Given the description of an element on the screen output the (x, y) to click on. 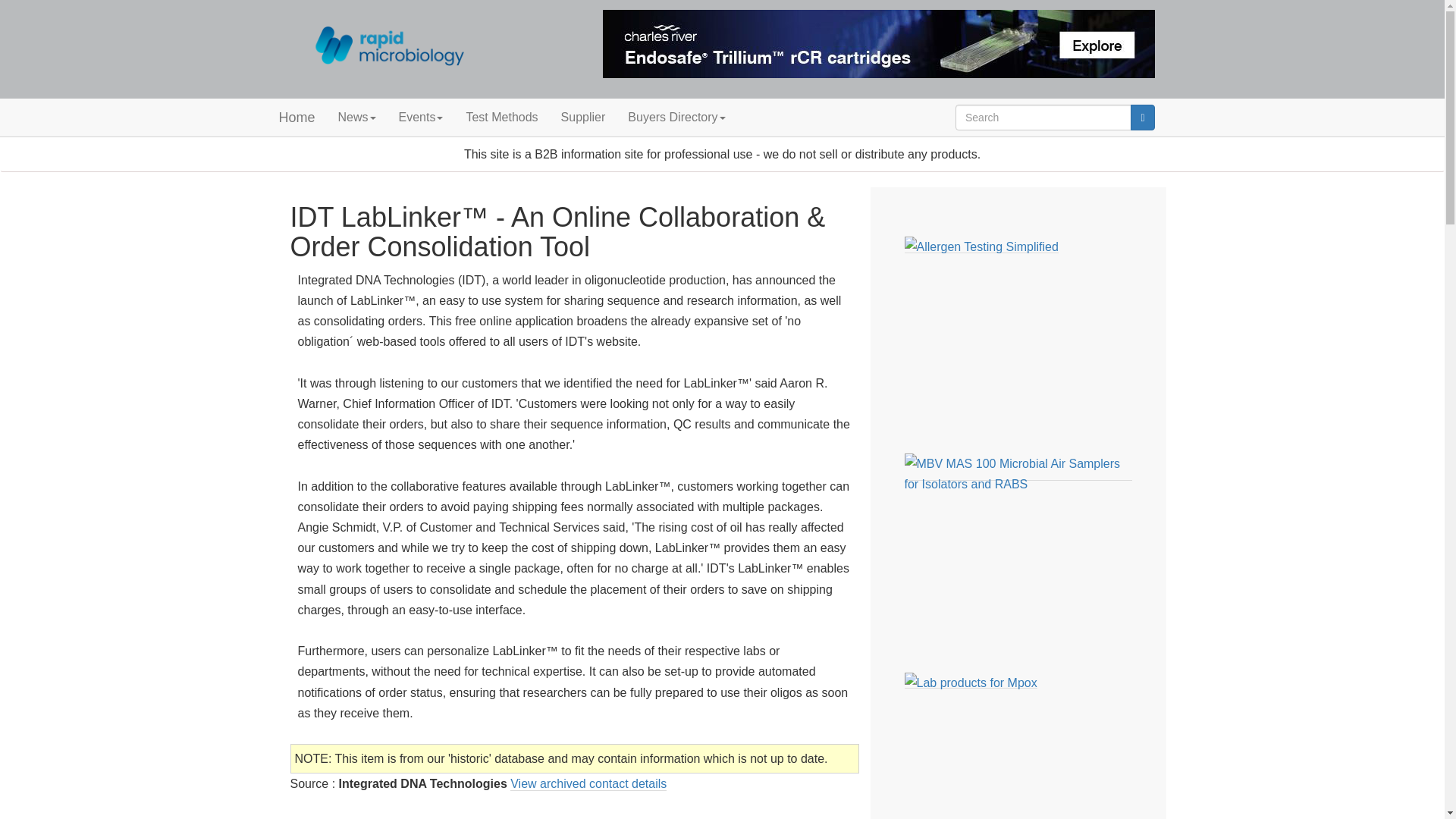
Supplier (583, 117)
Test Methods (501, 117)
News (356, 117)
Buyers Directory (675, 117)
Events (420, 117)
Home (296, 117)
